Given the description of an element on the screen output the (x, y) to click on. 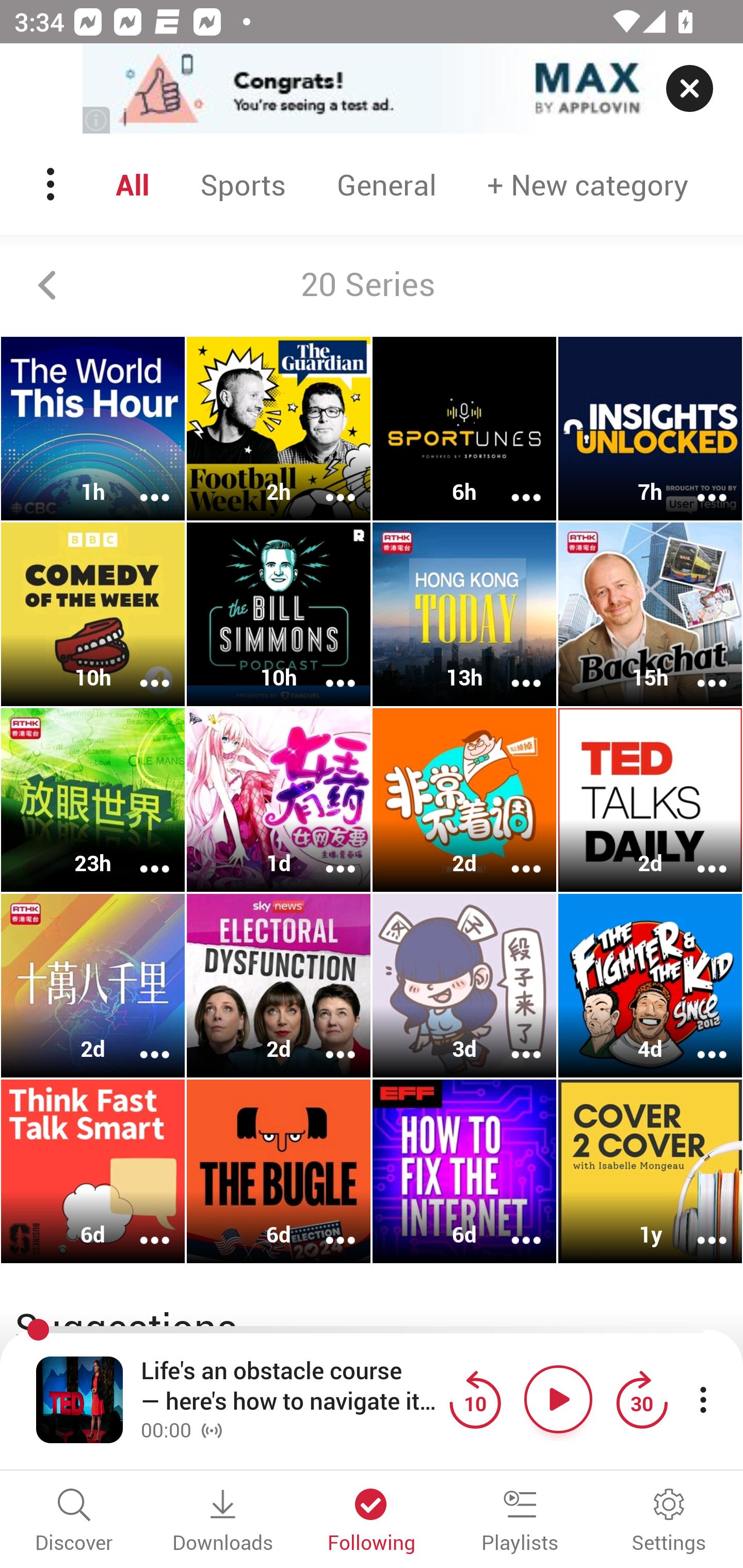
app-monetization (371, 88)
(i) (96, 119)
Menu (52, 184)
All (132, 184)
Sports (242, 184)
General (386, 184)
New category + New category (588, 184)
20 Series (371, 285)
The World This Hour 1h More options More options (92, 428)
Football Weekly 2h More options More options (278, 428)
Sportunes HK 6h More options More options (464, 428)
Insights Unlocked 7h More options More options (650, 428)
More options (141, 484)
More options (326, 484)
More options (512, 484)
More options (698, 484)
Comedy of the Week 10h More options More options (92, 614)
Hong Kong Today 13h More options More options (464, 614)
Backchat 15h More options More options (650, 614)
More options (141, 669)
More options (326, 669)
More options (512, 669)
More options (698, 669)
放眼世界 23h More options More options (92, 799)
女王有药丨爆笑脱口秀 1d More options More options (278, 799)
非常不着调 2d More options More options (464, 799)
TED Talks Daily 2d More options More options (650, 799)
More options (141, 856)
More options (326, 856)
More options (512, 856)
More options (698, 856)
十萬八千里 2d More options More options (92, 985)
Electoral Dysfunction 2d More options More options (278, 985)
段子来了 3d More options More options (464, 985)
The Fighter & The Kid 4d More options More options (650, 985)
More options (141, 1041)
More options (326, 1041)
More options (512, 1041)
More options (698, 1041)
The Bugle 6d More options More options (278, 1170)
Cover 2 Cover 1y More options More options (650, 1170)
More options (141, 1227)
More options (326, 1227)
More options (512, 1227)
More options (698, 1227)
Open fullscreen player (79, 1399)
More player controls (703, 1399)
Play button (558, 1398)
Jump back (475, 1399)
Jump forward (641, 1399)
Discover (74, 1521)
Downloads (222, 1521)
Following (371, 1521)
Playlists (519, 1521)
Settings (668, 1521)
